Given the description of an element on the screen output the (x, y) to click on. 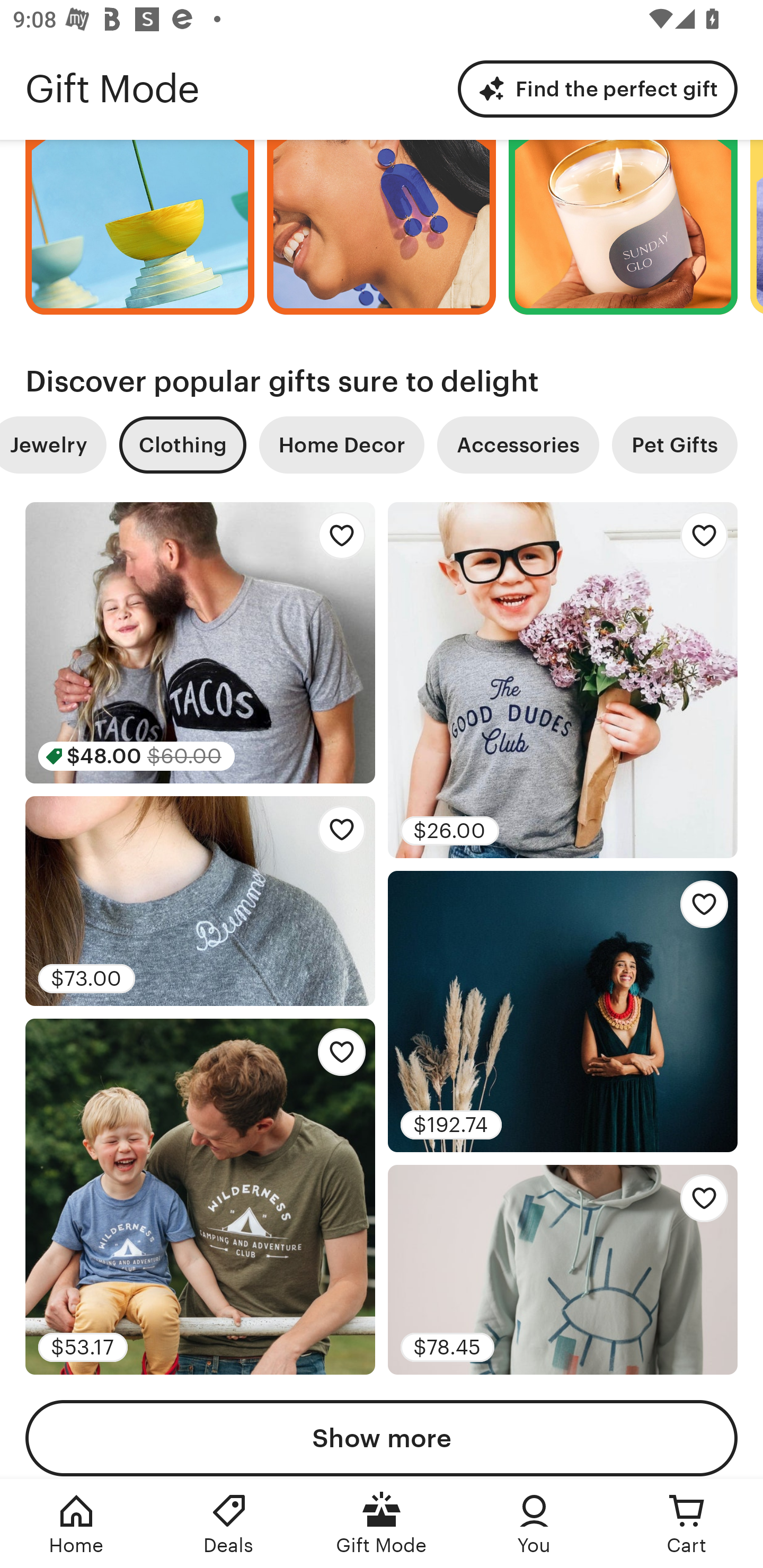
Find the perfect gift (597, 88)
Jewelry (53, 444)
Clothing (182, 444)
Home Decor (341, 444)
Accessories (517, 444)
Pet Gifts (674, 444)
Sale price: $48.00 $48.00 $60.00 (200, 642)
$26.00 (562, 679)
$73.00 (200, 901)
$192.74 (562, 1011)
$53.17 (200, 1197)
$78.45 (562, 1270)
Show more (381, 1438)
Home (76, 1523)
Deals (228, 1523)
You (533, 1523)
Cart (686, 1523)
